Given the description of an element on the screen output the (x, y) to click on. 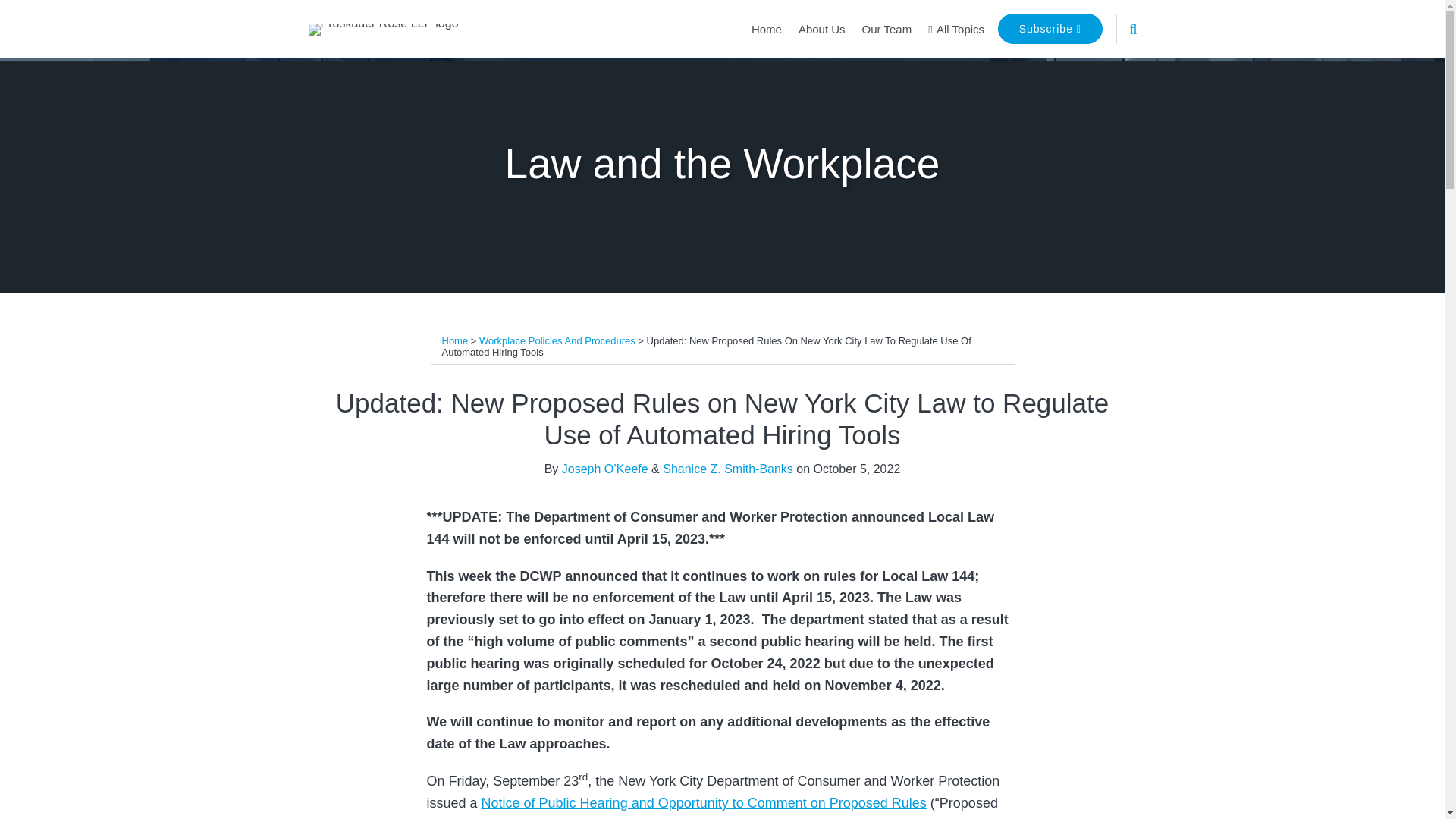
Local Law 144 (579, 818)
About Us (821, 29)
Law and the Workplace (722, 163)
Shanice Z. Smith-Banks (727, 468)
Subscribe (1049, 28)
Home (766, 29)
Our Team (886, 29)
All Topics (956, 29)
Workplace Policies And Procedures (556, 340)
